Given the description of an element on the screen output the (x, y) to click on. 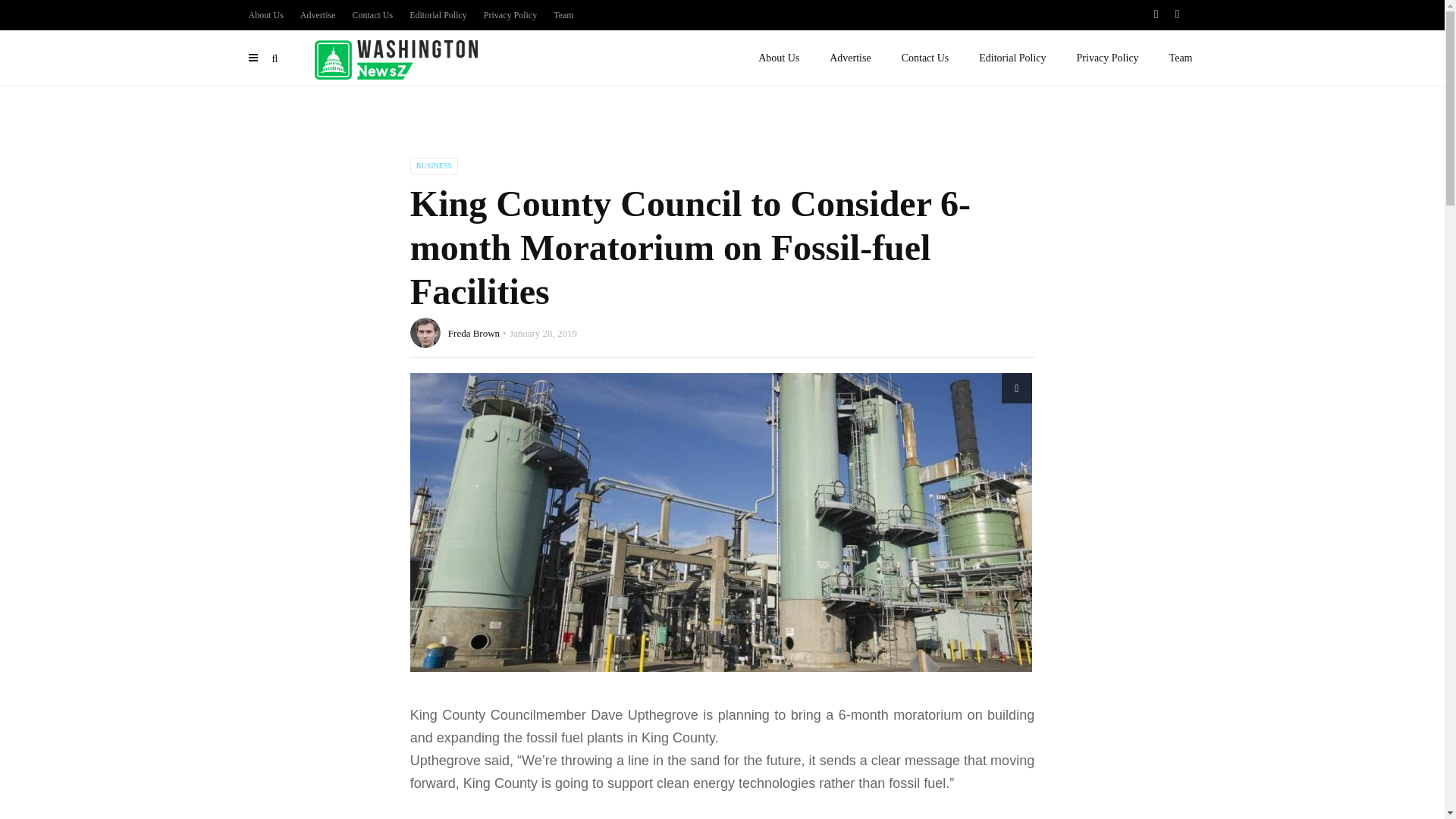
Contact Us (924, 57)
Freda Brown (473, 333)
BUSINESS (434, 166)
Advertise (317, 15)
About Us (777, 57)
Team (1181, 57)
Privacy Policy (510, 15)
Contact Us (372, 15)
Editorial Policy (1012, 57)
Privacy Policy (1107, 57)
